Given the description of an element on the screen output the (x, y) to click on. 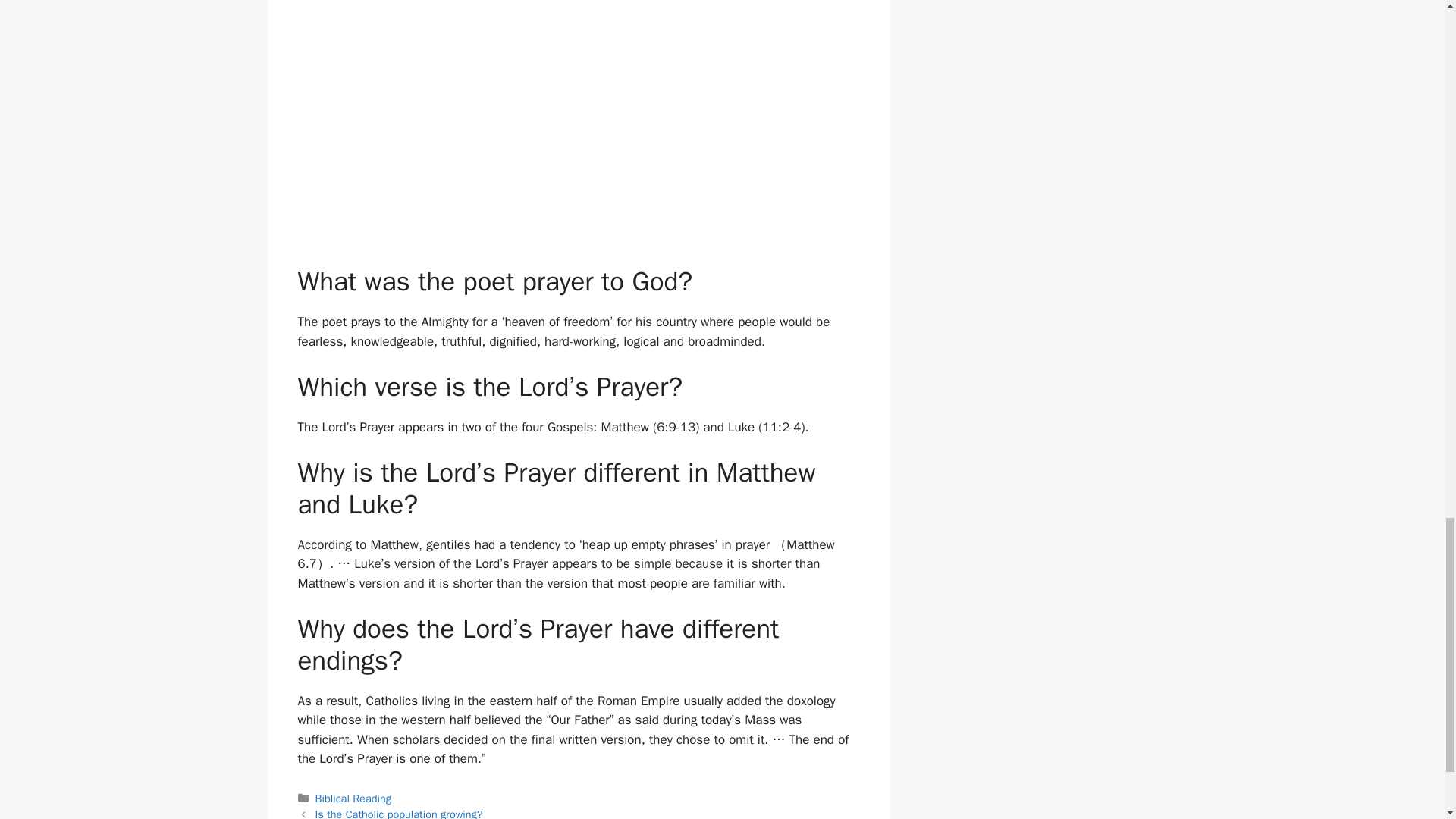
Biblical Reading (353, 798)
Is the Catholic population growing? (399, 813)
